Given the description of an element on the screen output the (x, y) to click on. 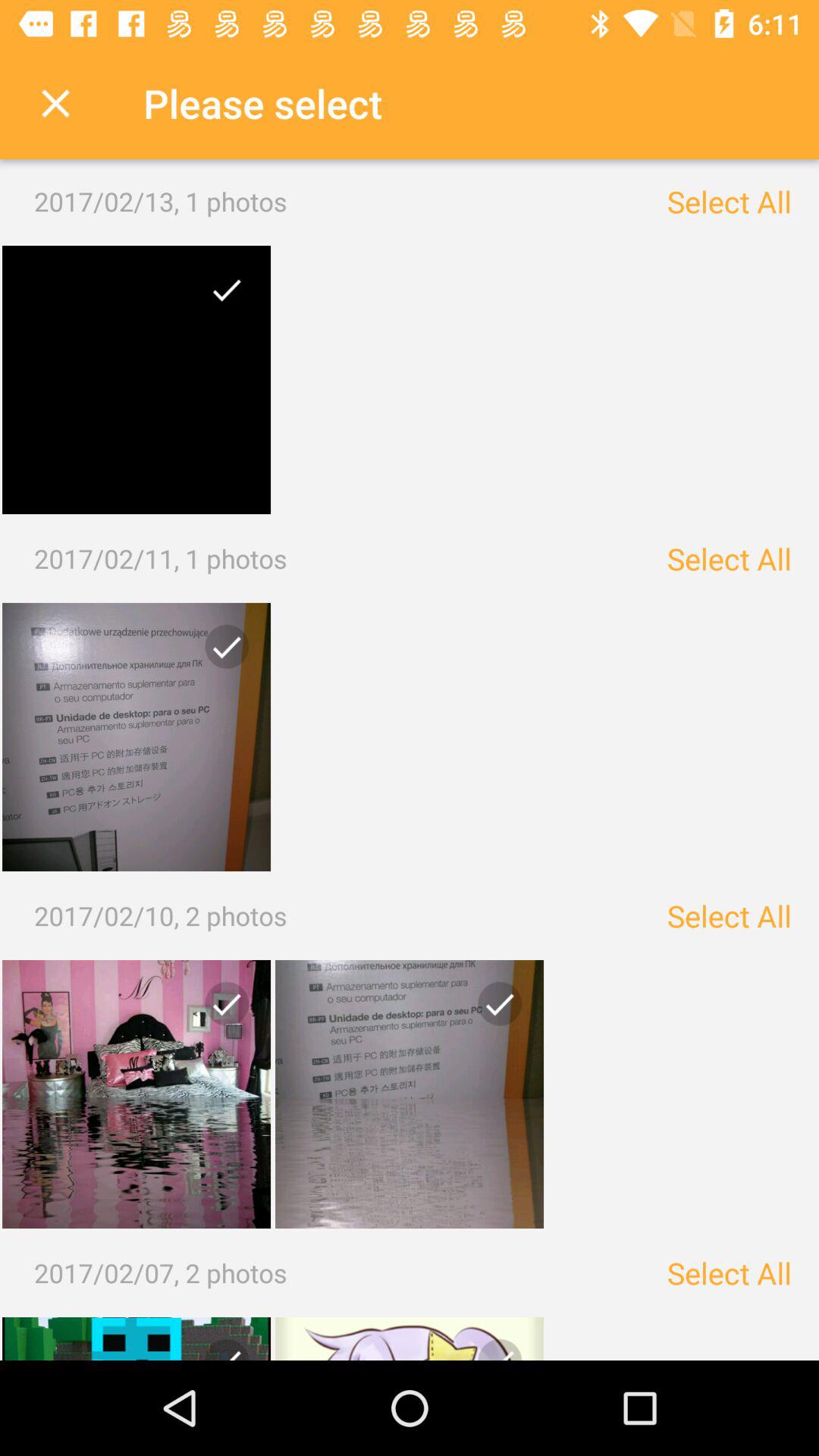
open photo (136, 379)
